Given the description of an element on the screen output the (x, y) to click on. 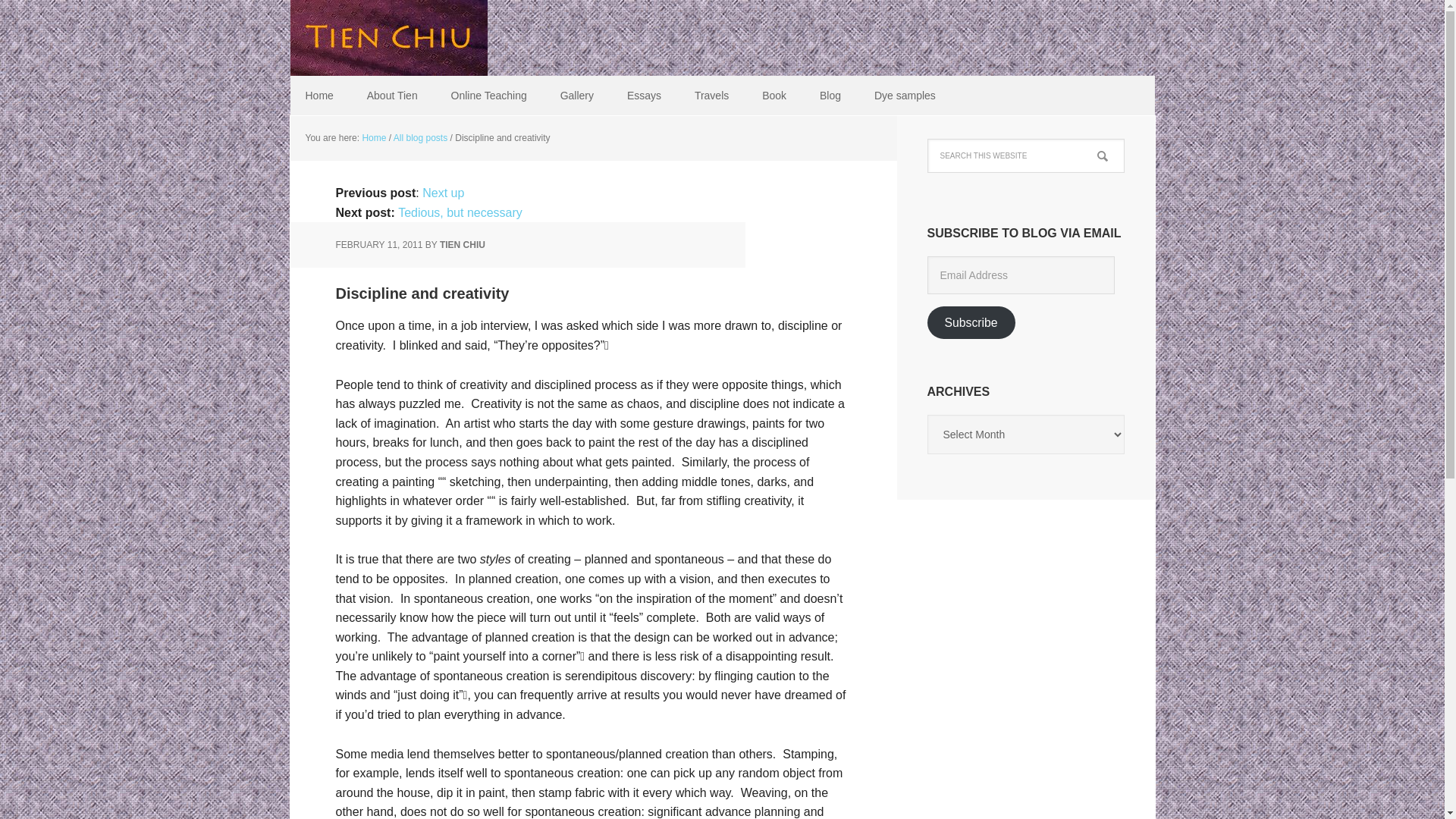
TIEN CHIU (461, 244)
Next up (443, 192)
Travels (711, 96)
Online Teaching (488, 96)
Essays (644, 96)
Blog (830, 96)
Gallery (576, 96)
Home (373, 137)
Subscribe (970, 322)
Home (318, 96)
Dye samples (904, 96)
All blog posts (419, 137)
Book (774, 96)
